Given the description of an element on the screen output the (x, y) to click on. 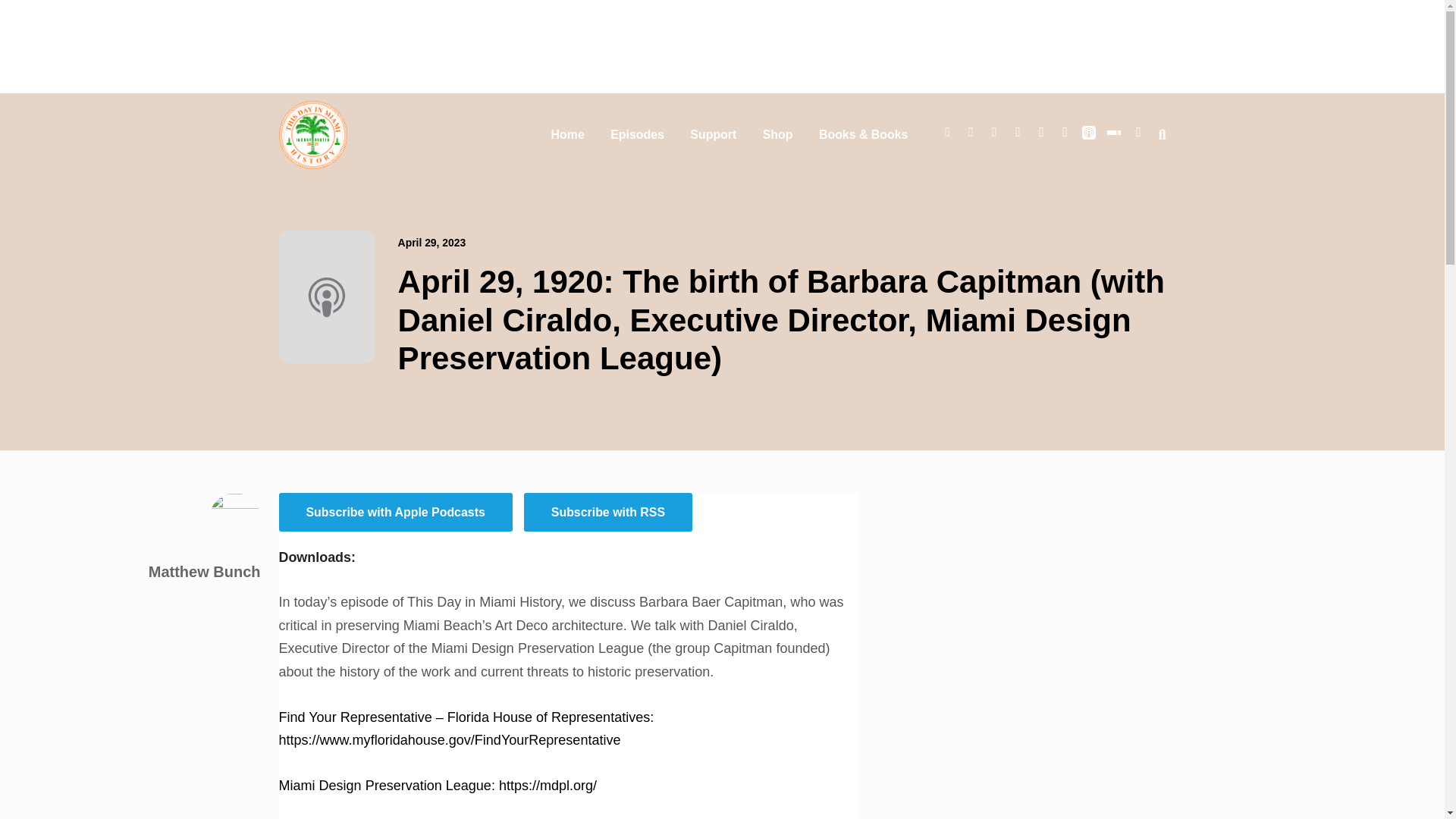
Subscribe with RSS (608, 512)
Subscribe with Apple Podcasts (395, 512)
Episodes (636, 134)
Support (713, 134)
Home (567, 134)
Shop (778, 134)
